Given the description of an element on the screen output the (x, y) to click on. 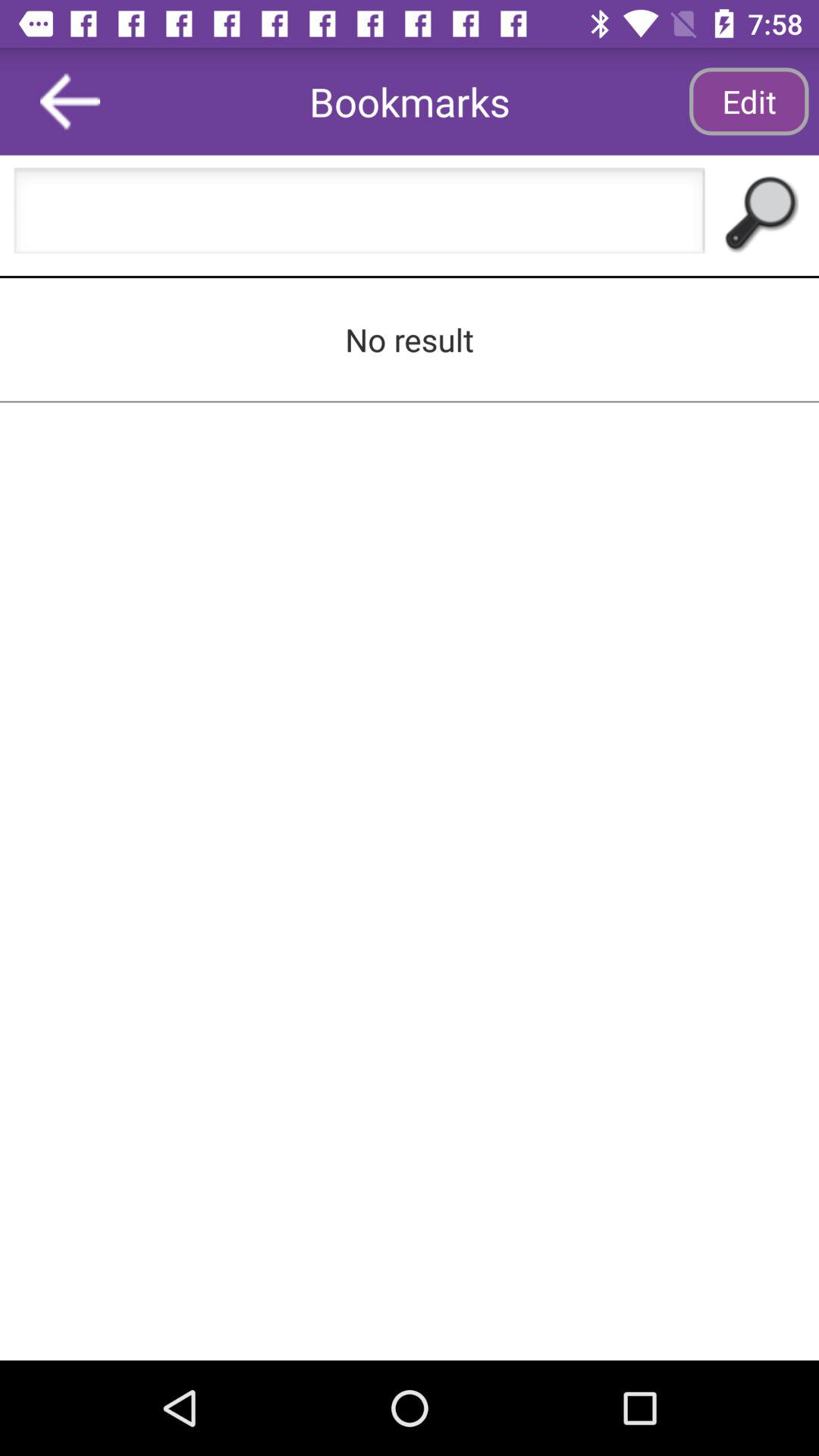
press item next to bookmarks (748, 101)
